Given the description of an element on the screen output the (x, y) to click on. 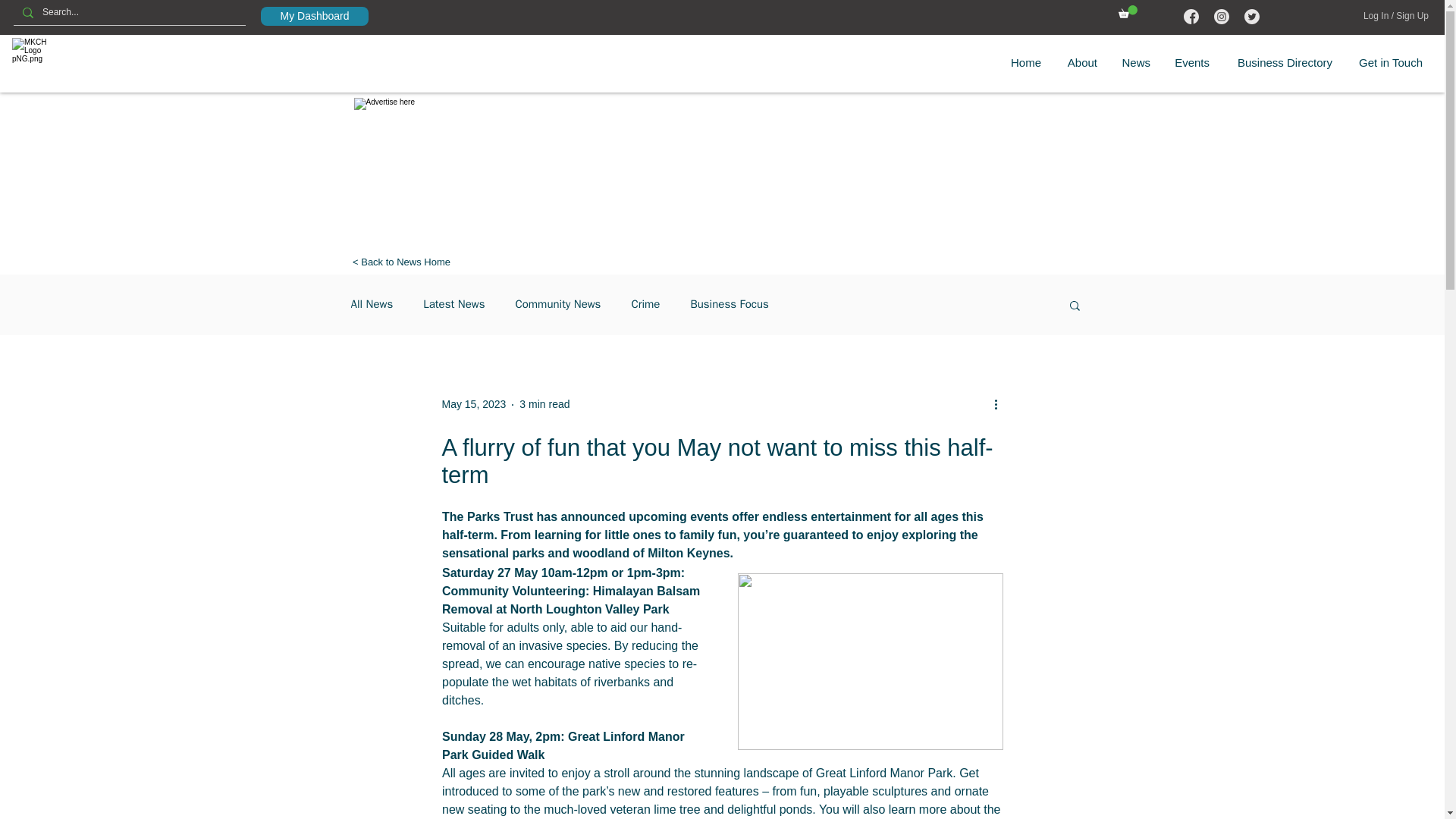
Latest News (453, 304)
All News (371, 304)
3 min read (544, 404)
My Dashboard (314, 15)
Business Focus (729, 304)
Events (1191, 62)
News (1134, 62)
Crime (644, 304)
May 15, 2023 (473, 404)
Home (1024, 62)
Community News (557, 304)
About (1080, 62)
Get in Touch (1388, 62)
Business Directory (1282, 62)
